Given the description of an element on the screen output the (x, y) to click on. 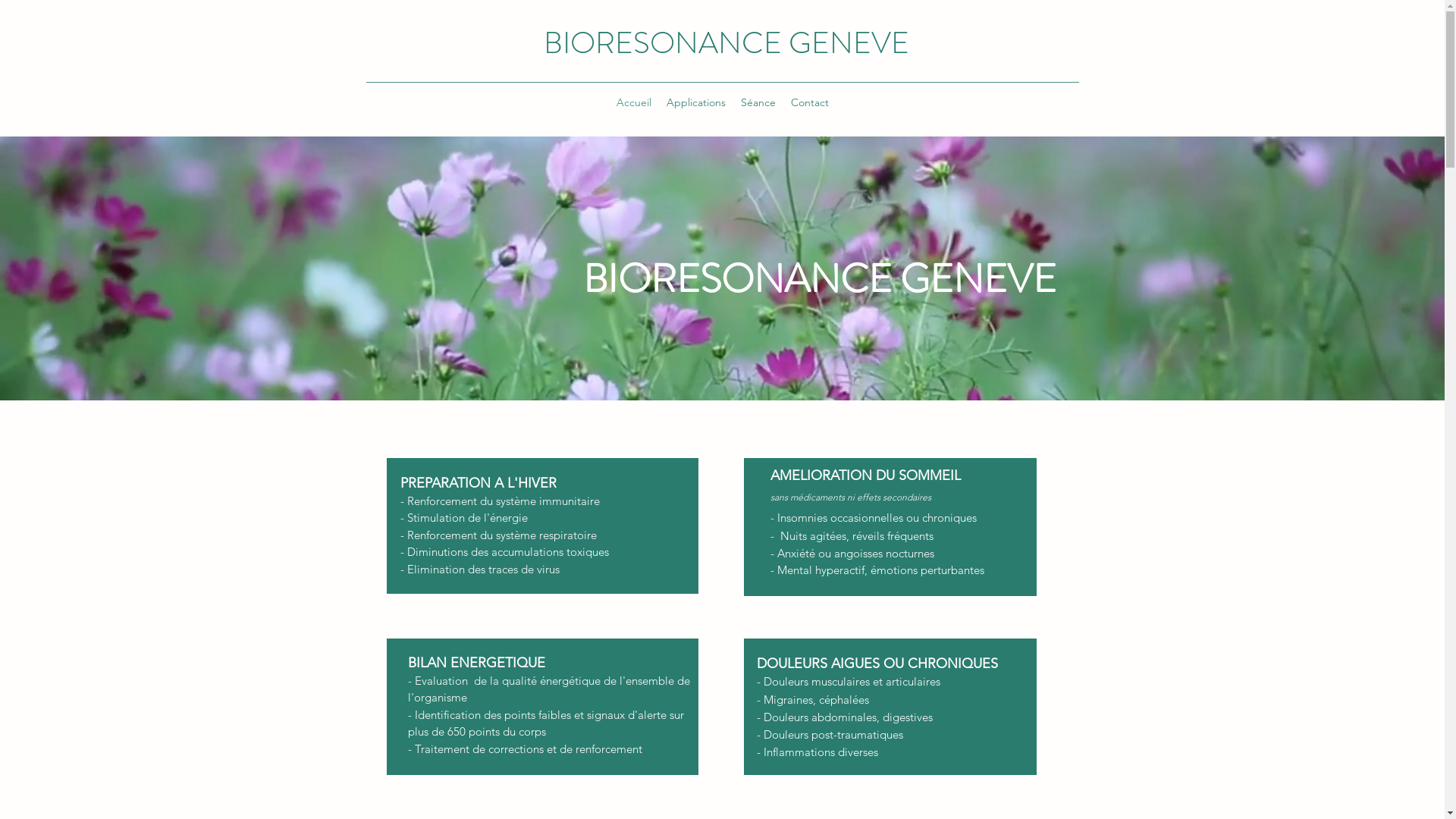
BIORESONANCE GENEVE Element type: text (725, 42)
Accueil Element type: text (633, 102)
Contact Element type: text (808, 102)
Applications Element type: text (695, 102)
